Given the description of an element on the screen output the (x, y) to click on. 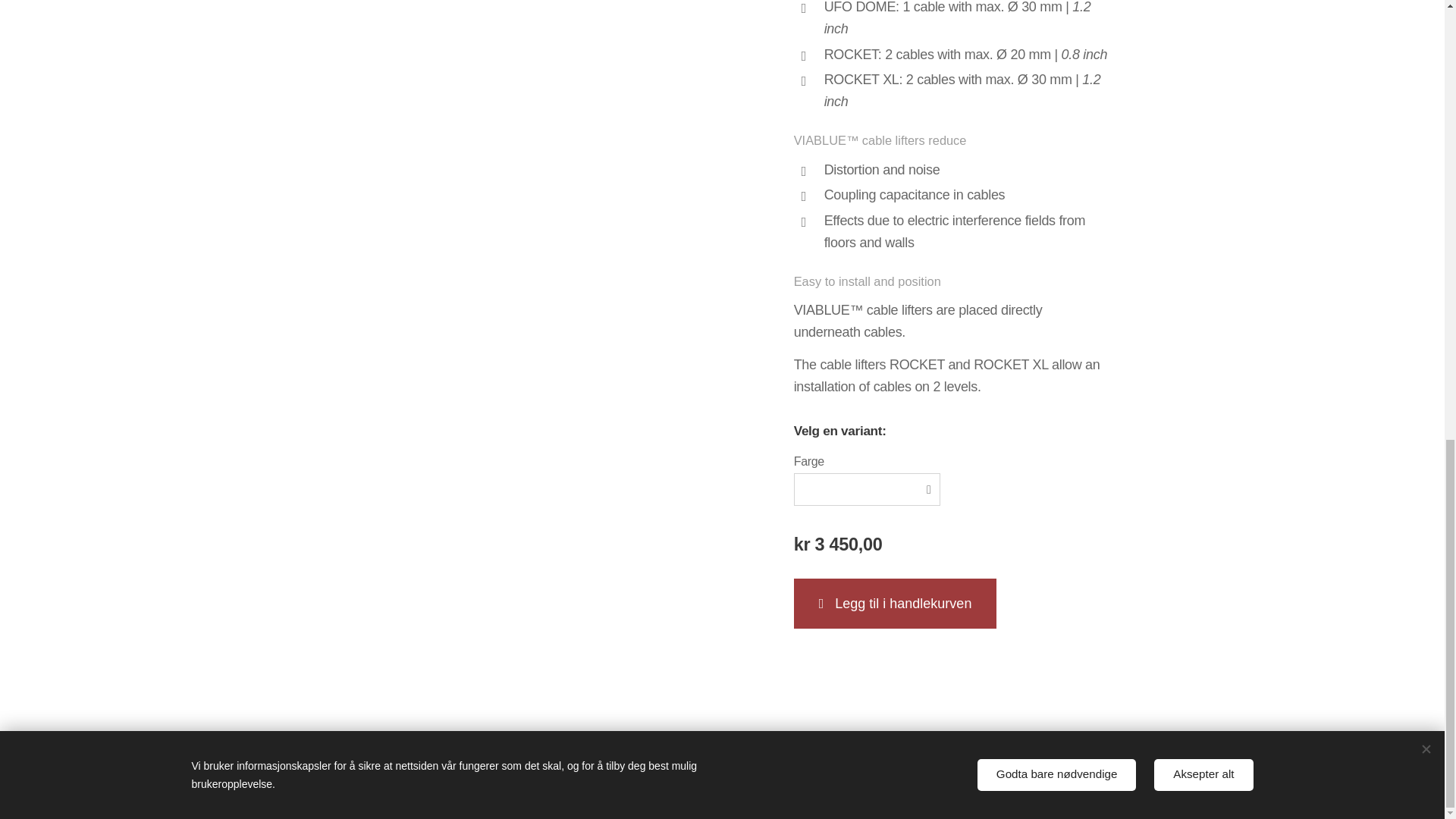
Legg til i handlekurven (895, 603)
